Given the description of an element on the screen output the (x, y) to click on. 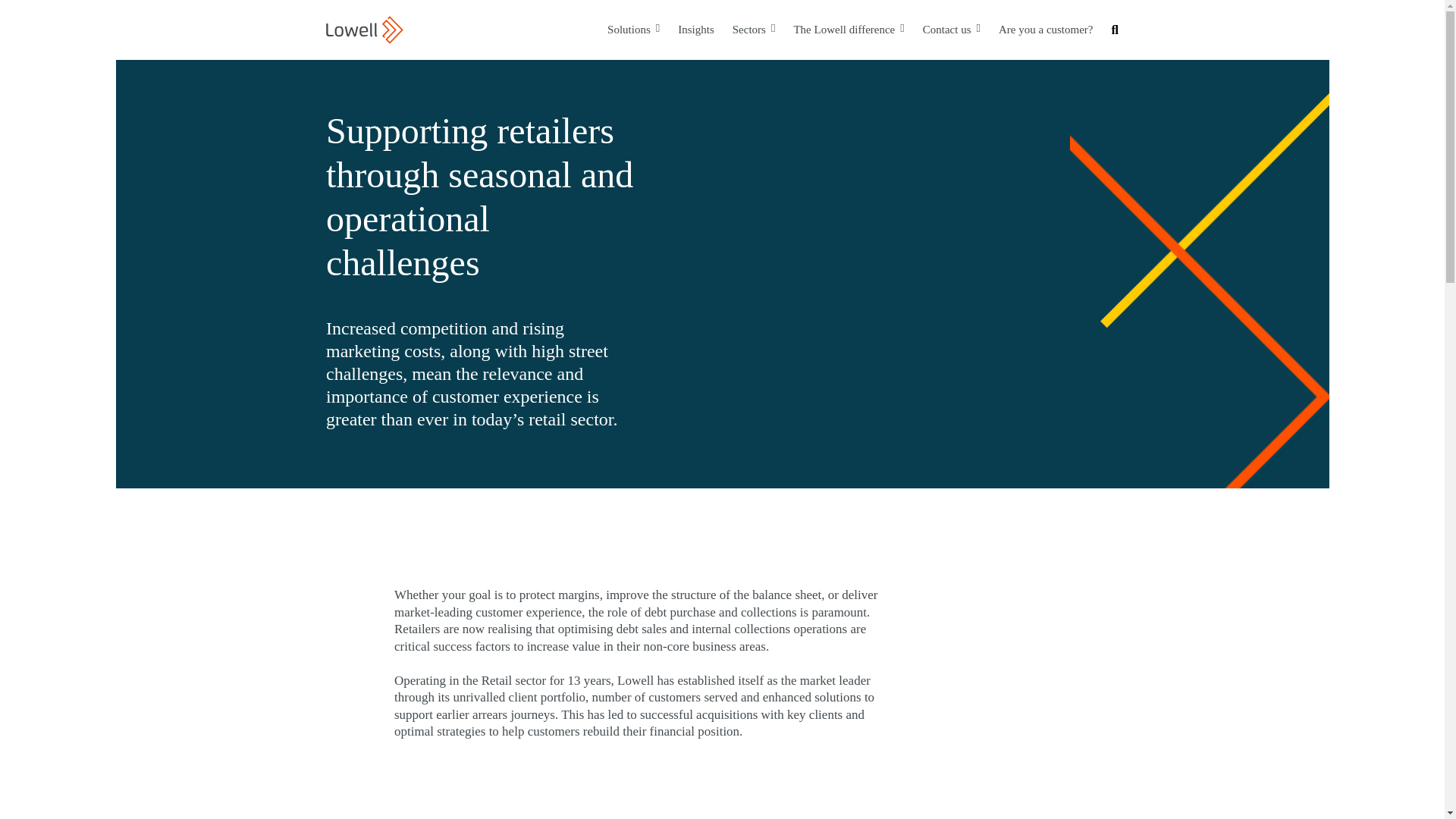
Solutions (633, 29)
Contact us (951, 29)
Insights (696, 29)
The Lowell difference (848, 29)
Are you a customer? (1045, 29)
Sectors (754, 29)
